Given the description of an element on the screen output the (x, y) to click on. 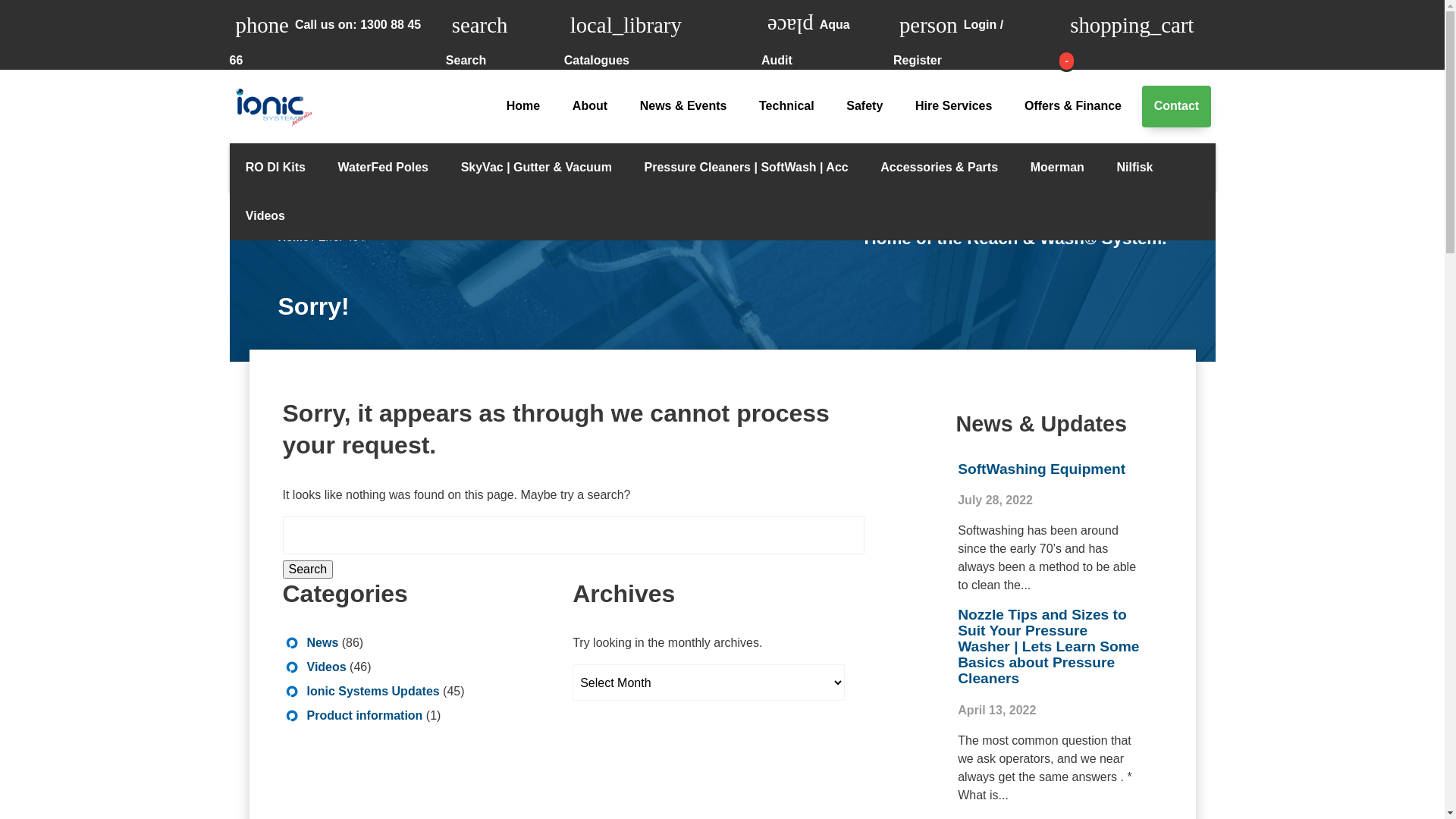
News Element type: text (322, 642)
WaterFed Poles Element type: text (382, 167)
About Element type: text (590, 106)
Technical Element type: text (786, 106)
Pressure Cleaners | SoftWash | Acc Element type: text (745, 167)
RO DI Kits Element type: text (275, 167)
phoneCall us on: 1300 88 45 66 Element type: text (337, 34)
Home Element type: text (522, 106)
local_libraryCatalogues Element type: text (662, 34)
Search Element type: text (307, 568)
Nilfisk Element type: text (1134, 167)
Product information Element type: text (364, 715)
News & Events Element type: text (682, 106)
Offers & Finance Element type: text (1073, 106)
Moerman Element type: text (1056, 167)
Videos Element type: text (325, 666)
personLogin / Register Element type: text (978, 34)
placeAqua Audit Element type: text (827, 34)
searchSearch Element type: text (504, 34)
SoftWashing Equipment Element type: text (1041, 468)
Home Element type: text (292, 237)
SkyVac | Gutter & Vacuum Element type: text (535, 167)
Accessories & Parts Element type: text (938, 167)
Videos Element type: text (265, 215)
Contact Element type: text (1176, 105)
Ionic Systems Updates Element type: text (372, 690)
shopping_cart
Cart
- Element type: text (1138, 34)
Hire Services Element type: text (953, 106)
Safety Element type: text (864, 106)
